Given the description of an element on the screen output the (x, y) to click on. 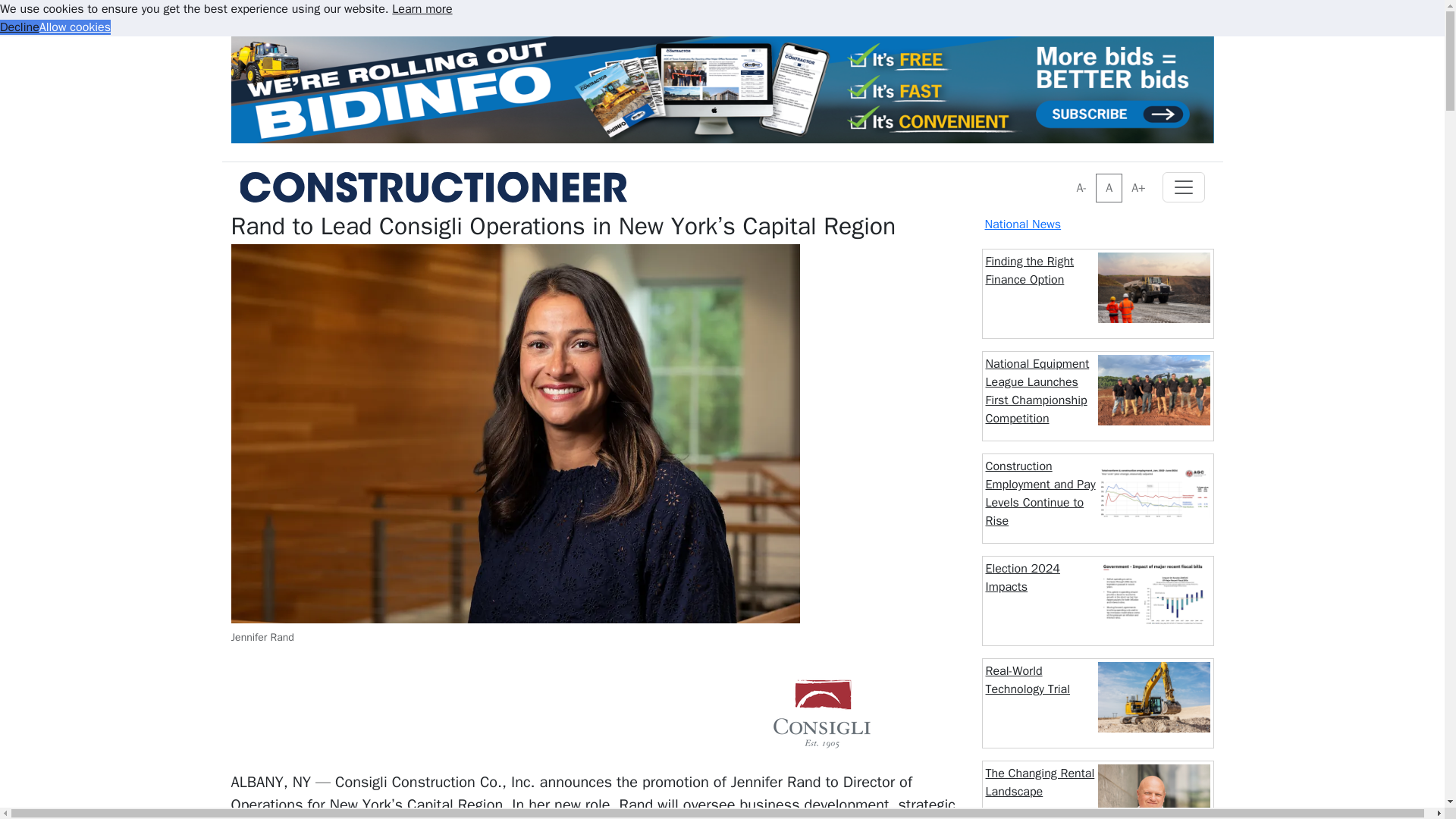
Election 2024 Impacts (1022, 577)
Allow cookies (74, 27)
The Changing Rental Landscape (1039, 782)
Finding the Right Finance Option (1029, 270)
Real-World Technology Trial (1027, 679)
Construction Employment and Pay Levels Continue to Rise (1040, 493)
Learn more (421, 8)
National News (1022, 224)
on (1070, 178)
on (1070, 178)
on (1070, 178)
Decline (19, 27)
